Given the description of an element on the screen output the (x, y) to click on. 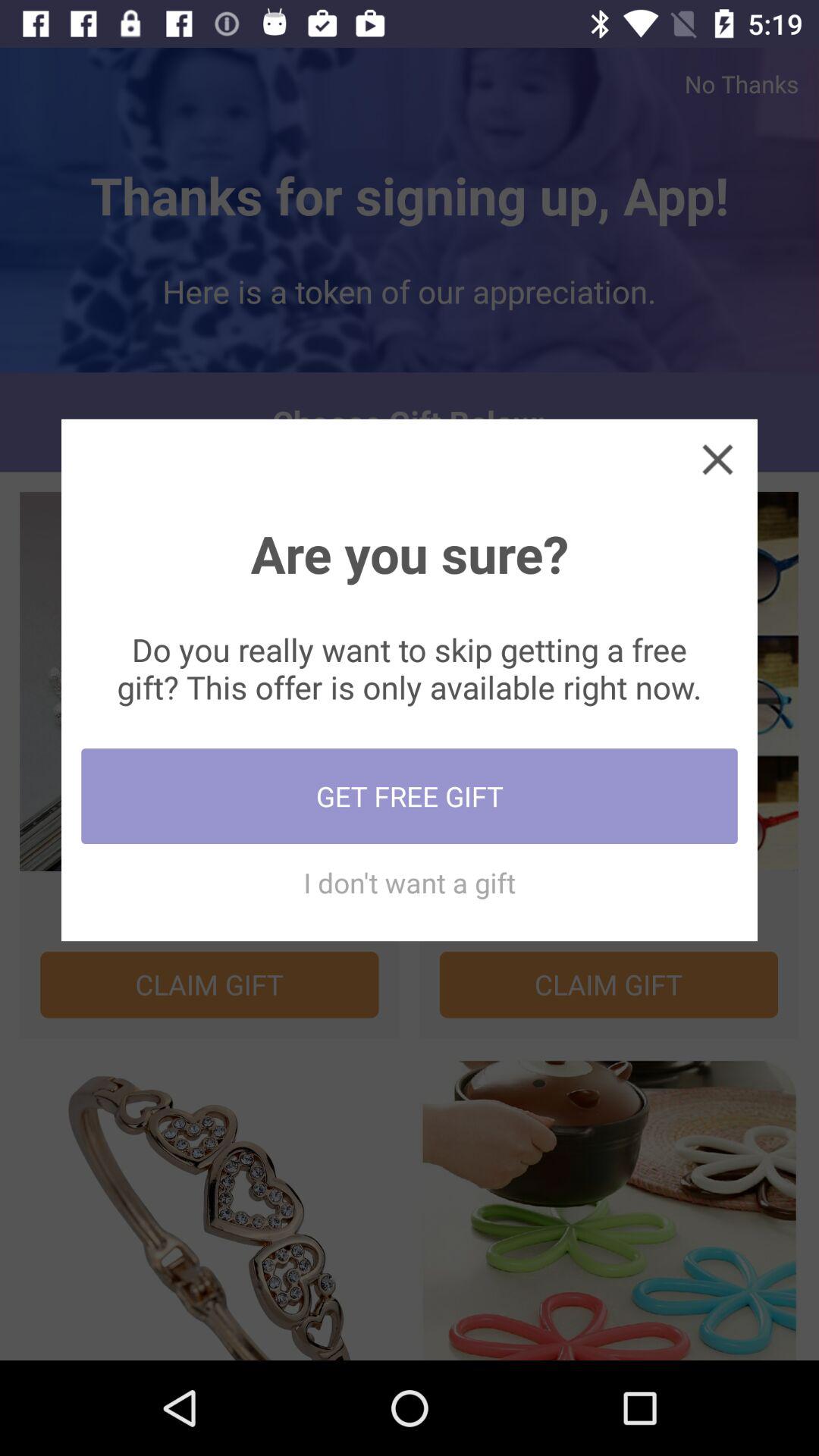
open i don t item (409, 882)
